Given the description of an element on the screen output the (x, y) to click on. 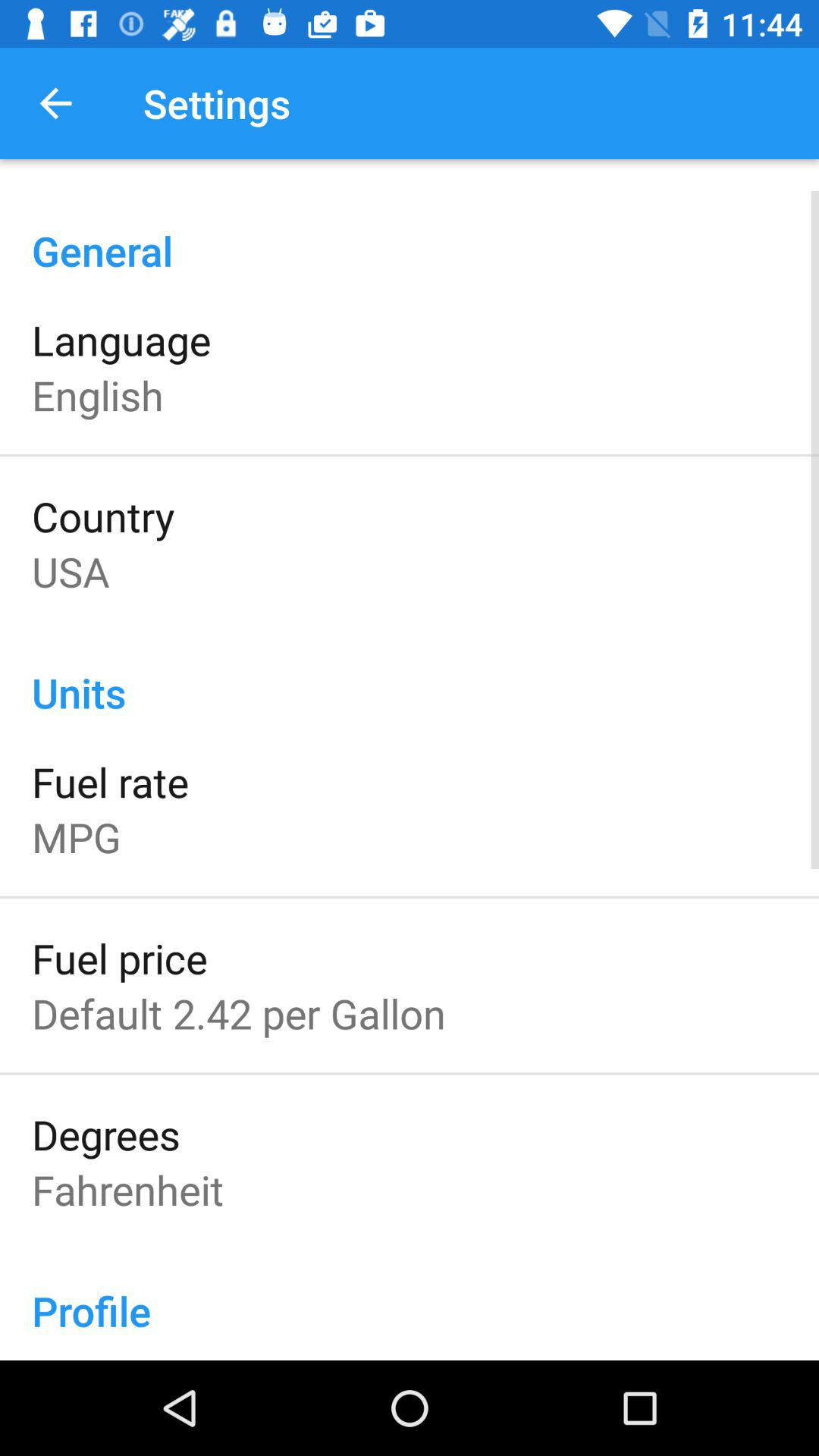
press the item above general item (55, 103)
